Given the description of an element on the screen output the (x, y) to click on. 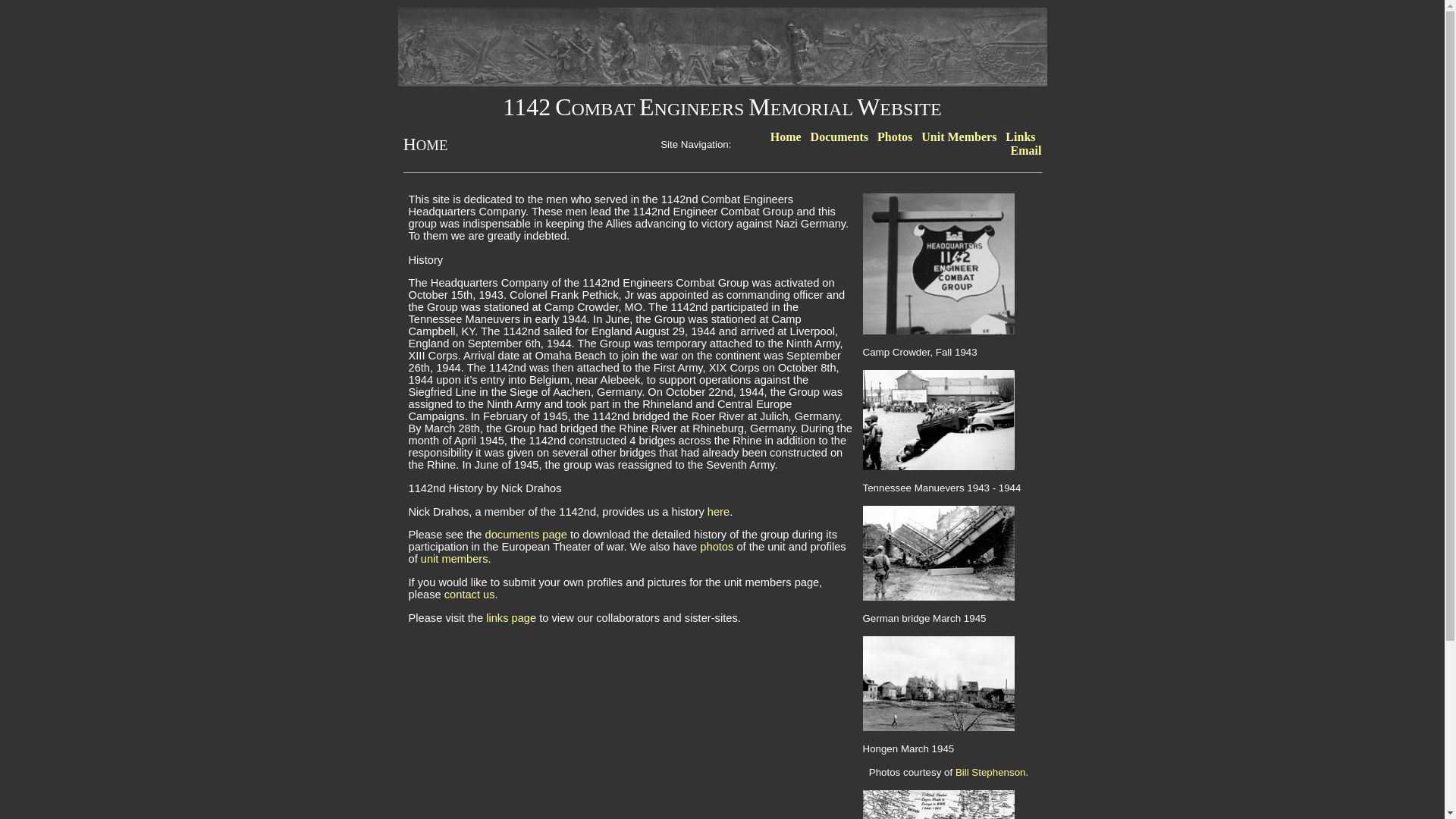
photos Element type: text (716, 546)
Photos Element type: text (894, 136)
Home Element type: text (785, 136)
Bill Stephenson Element type: text (990, 772)
unit members Element type: text (454, 558)
Links   Element type: text (1023, 136)
Unit Members Element type: text (958, 136)
contact us Element type: text (469, 594)
Email Element type: text (1025, 150)
links page Element type: text (511, 617)
 Documents Element type: text (837, 136)
here Element type: text (718, 511)
documents page Element type: text (526, 534)
